Given the description of an element on the screen output the (x, y) to click on. 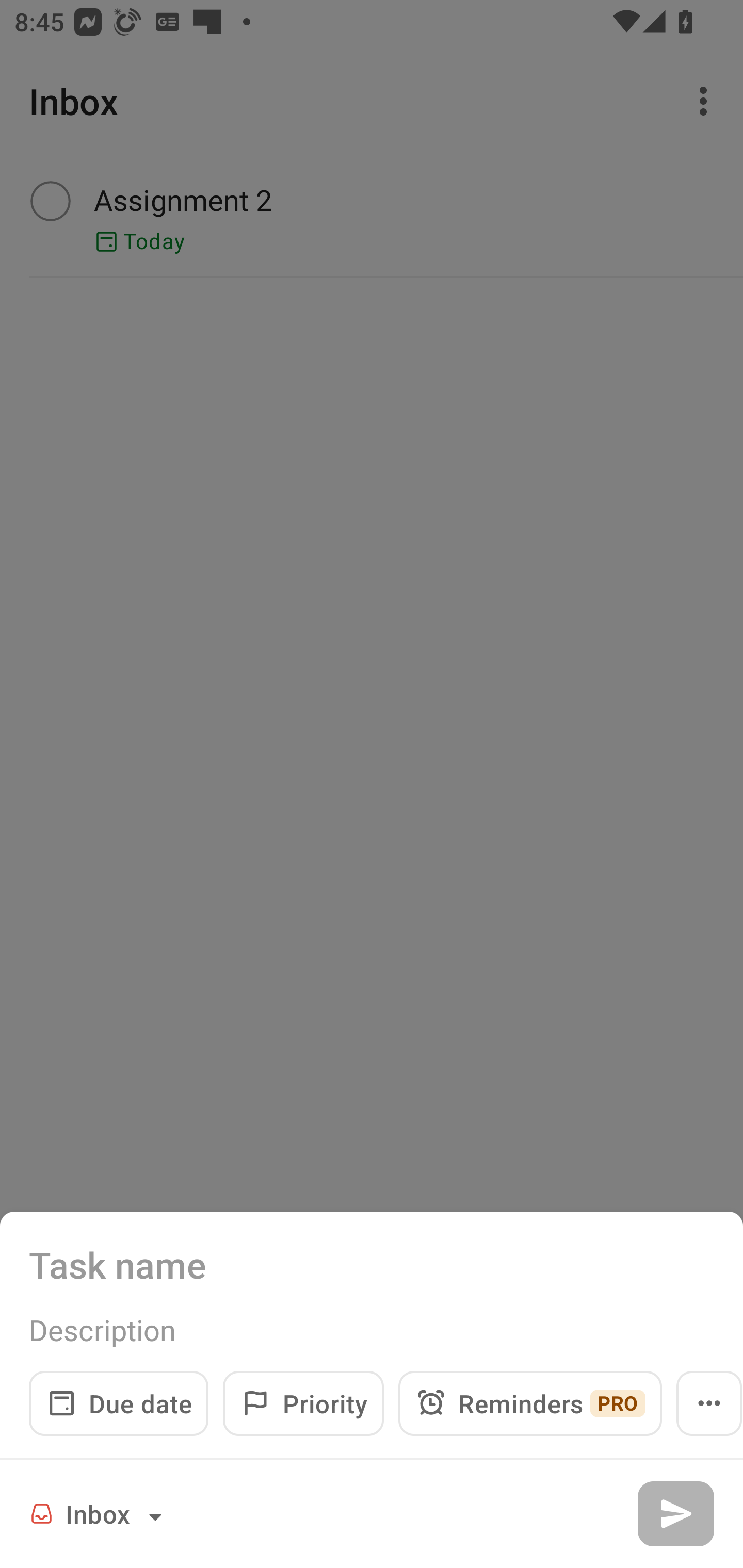
Task name (371, 1264)
Description (371, 1330)
Due date Date (118, 1403)
Priority (303, 1403)
Reminders PRO Reminders (530, 1403)
Open menu (709, 1403)
Inbox Project (99, 1513)
Add (675, 1513)
